Given the description of an element on the screen output the (x, y) to click on. 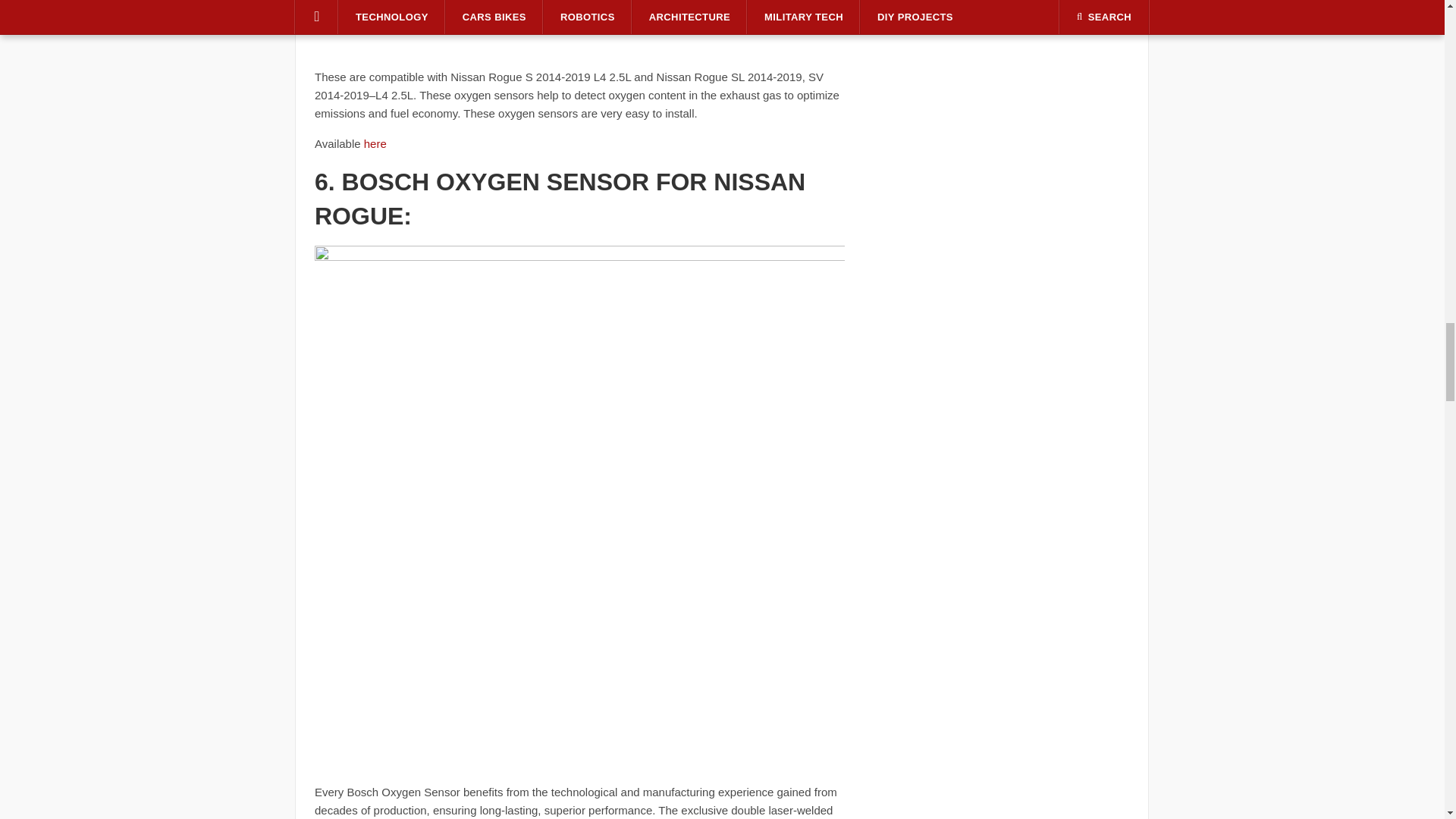
here (375, 143)
